Given the description of an element on the screen output the (x, y) to click on. 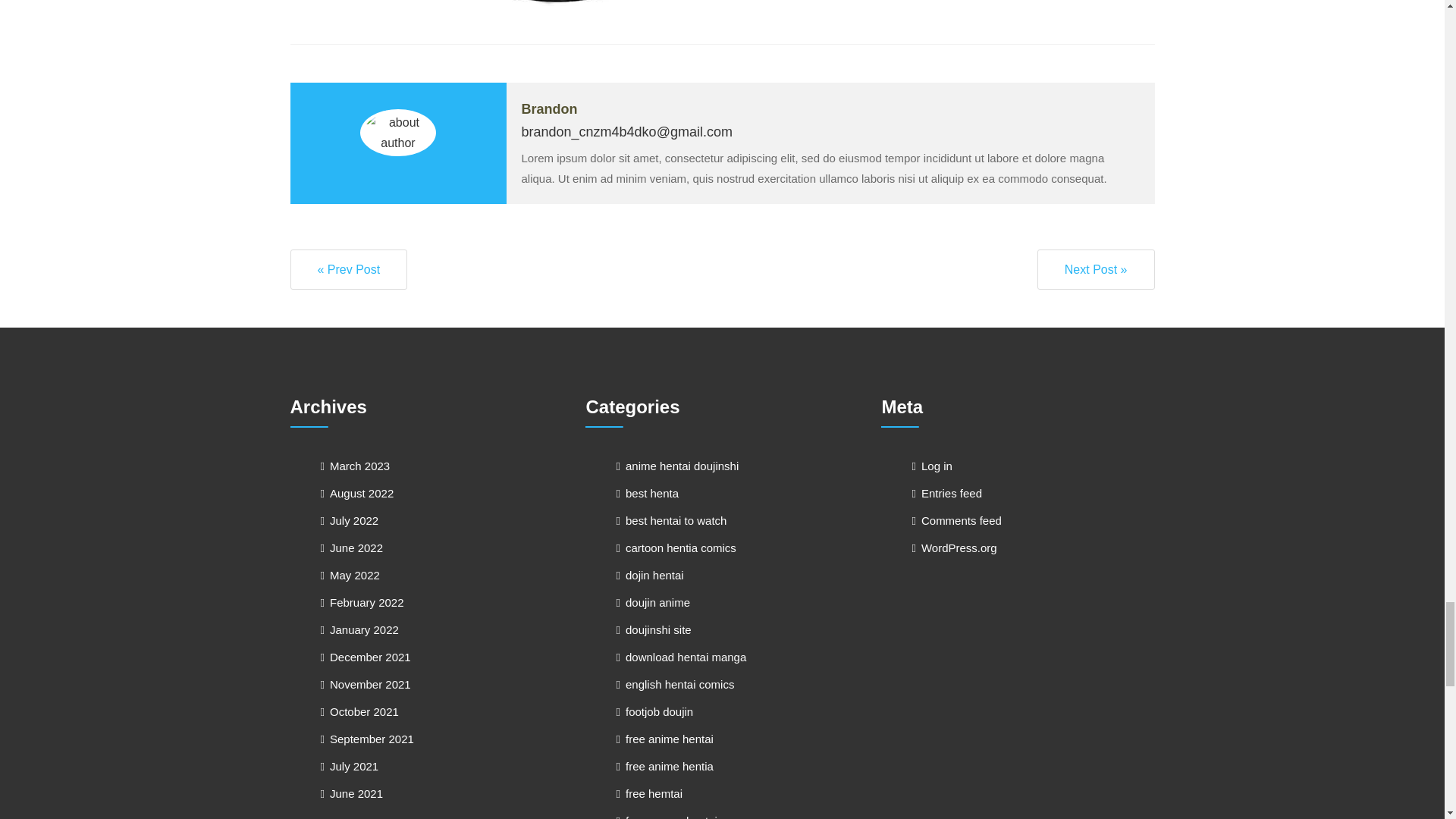
download hentai manga (680, 656)
free anime hentai (664, 738)
October 2021 (358, 711)
July 2021 (349, 766)
doujinshi site (652, 629)
best henta (646, 492)
August 2022 (356, 492)
cartoon hentia comics (675, 547)
July 2022 (349, 520)
Brandon (549, 109)
March 2023 (355, 465)
doujin anime (652, 602)
May 2022 (349, 574)
September 2021 (366, 738)
June 2022 (351, 547)
